Given the description of an element on the screen output the (x, y) to click on. 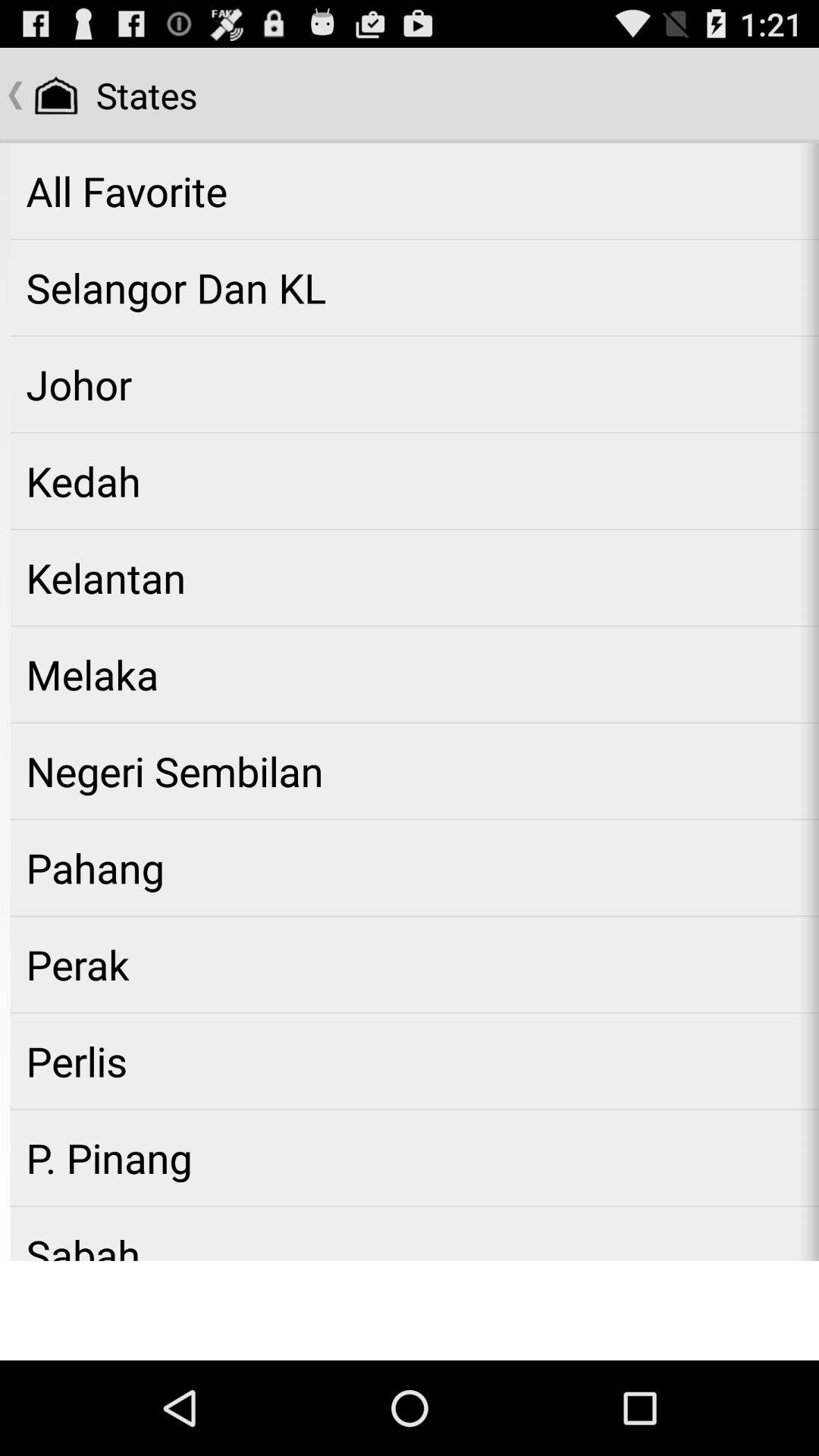
press icon below p. pinang (414, 1233)
